Given the description of an element on the screen output the (x, y) to click on. 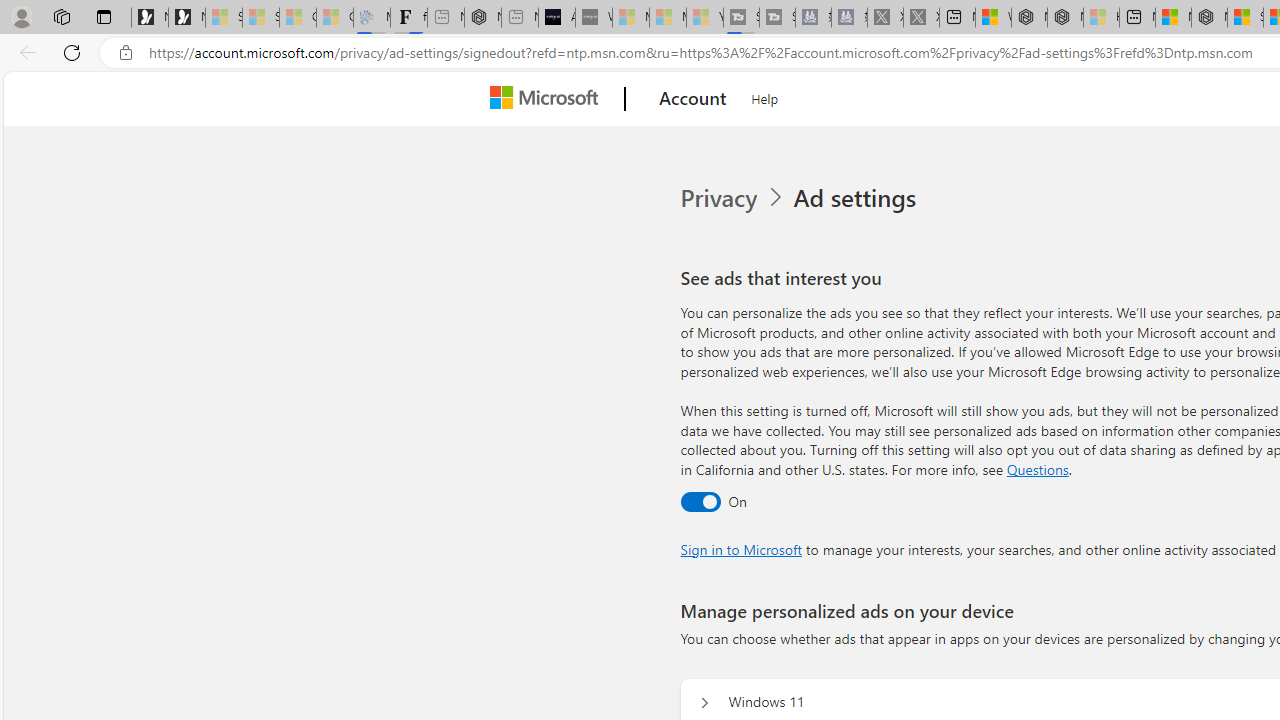
AI Voice Changer for PC and Mac - Voice.ai (556, 17)
Nordace - Nordace Siena Is Not An Ordinary Backpack (1209, 17)
Help (765, 96)
